Given the description of an element on the screen output the (x, y) to click on. 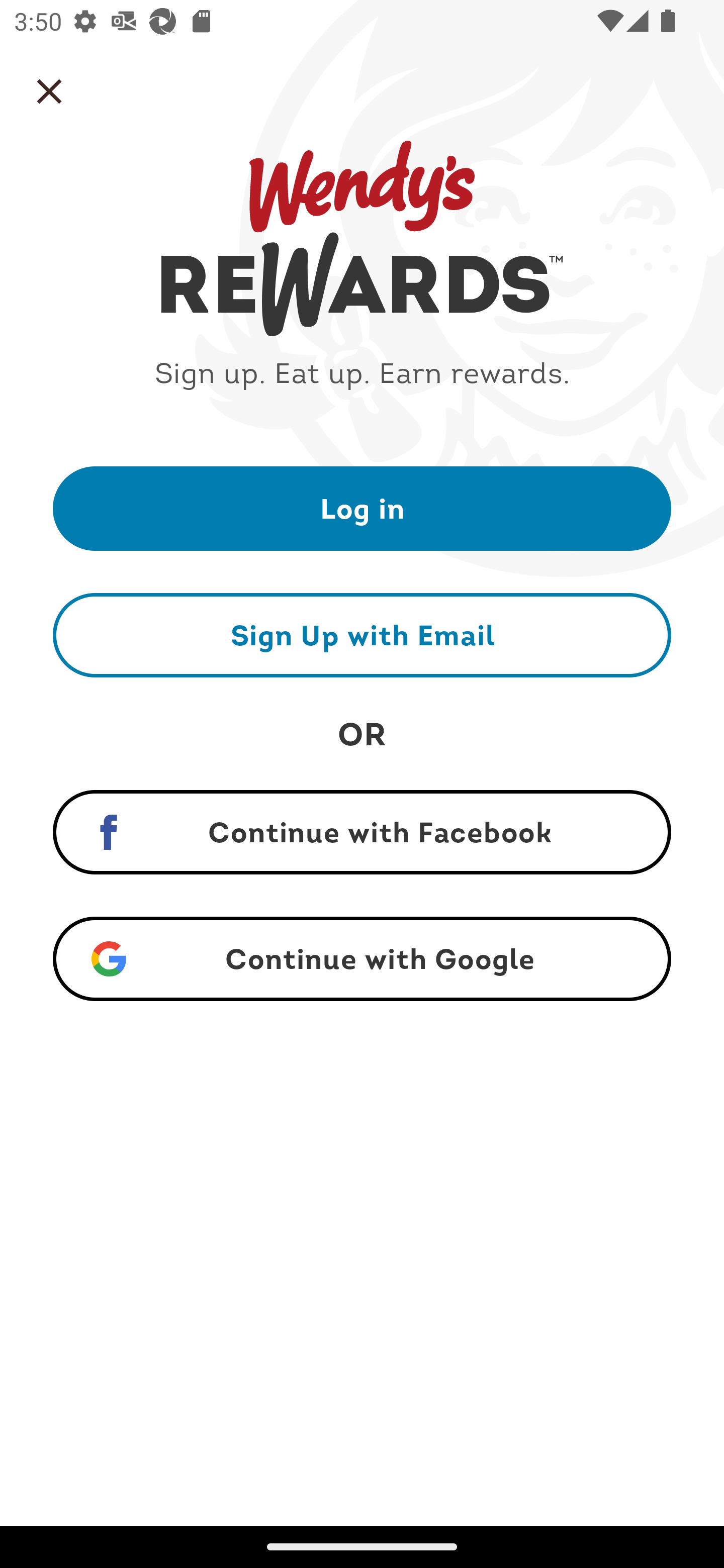
close (49, 91)
Log in (361, 507)
Sign Up with Email (361, 634)
Continue with Facebook (361, 832)
Continue with Google (361, 958)
